Given the description of an element on the screen output the (x, y) to click on. 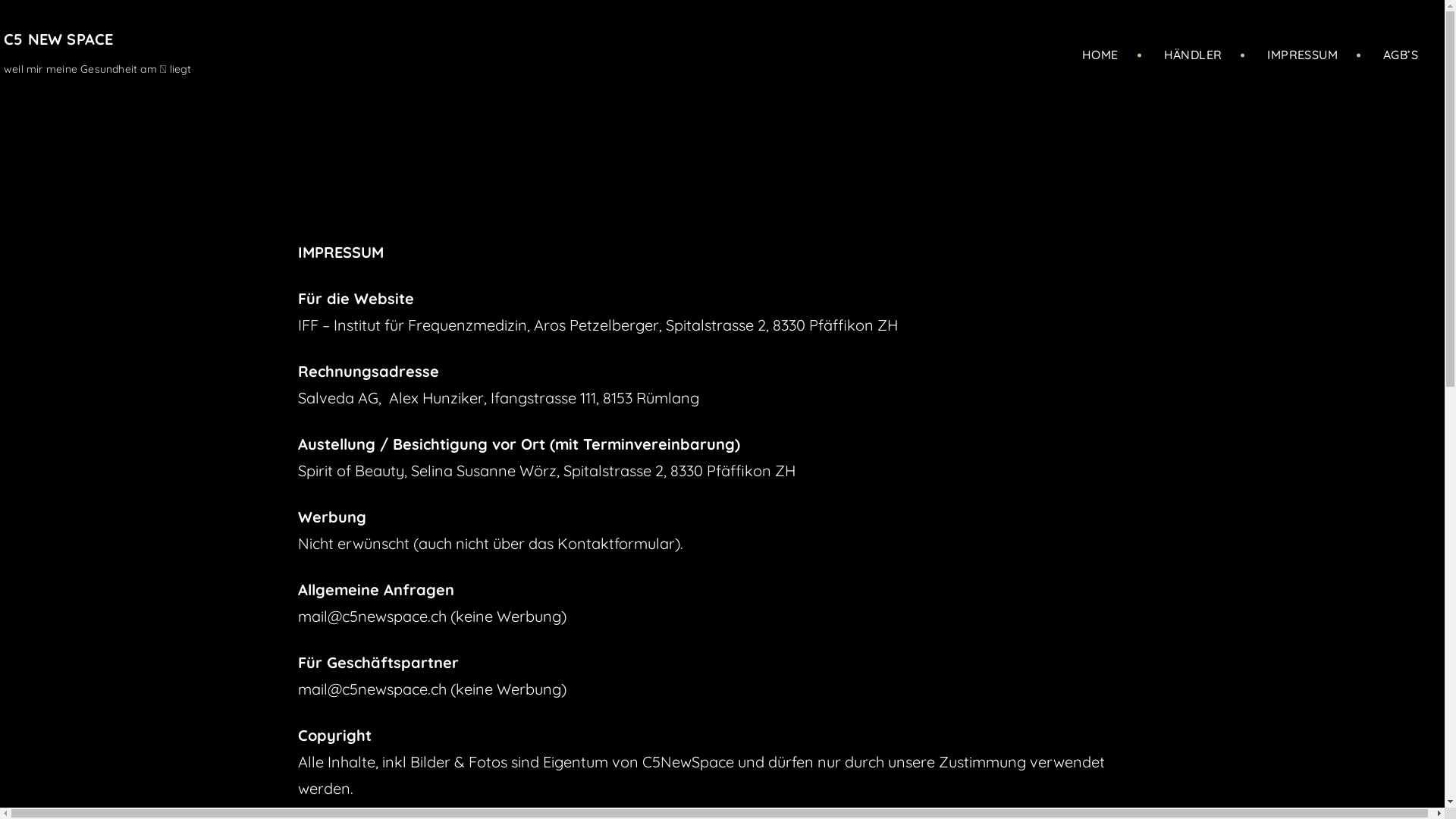
IMPRESSUM Element type: text (1302, 54)
HOME Element type: text (1100, 54)
C5 NEW SPACE Element type: text (57, 38)
